Given the description of an element on the screen output the (x, y) to click on. 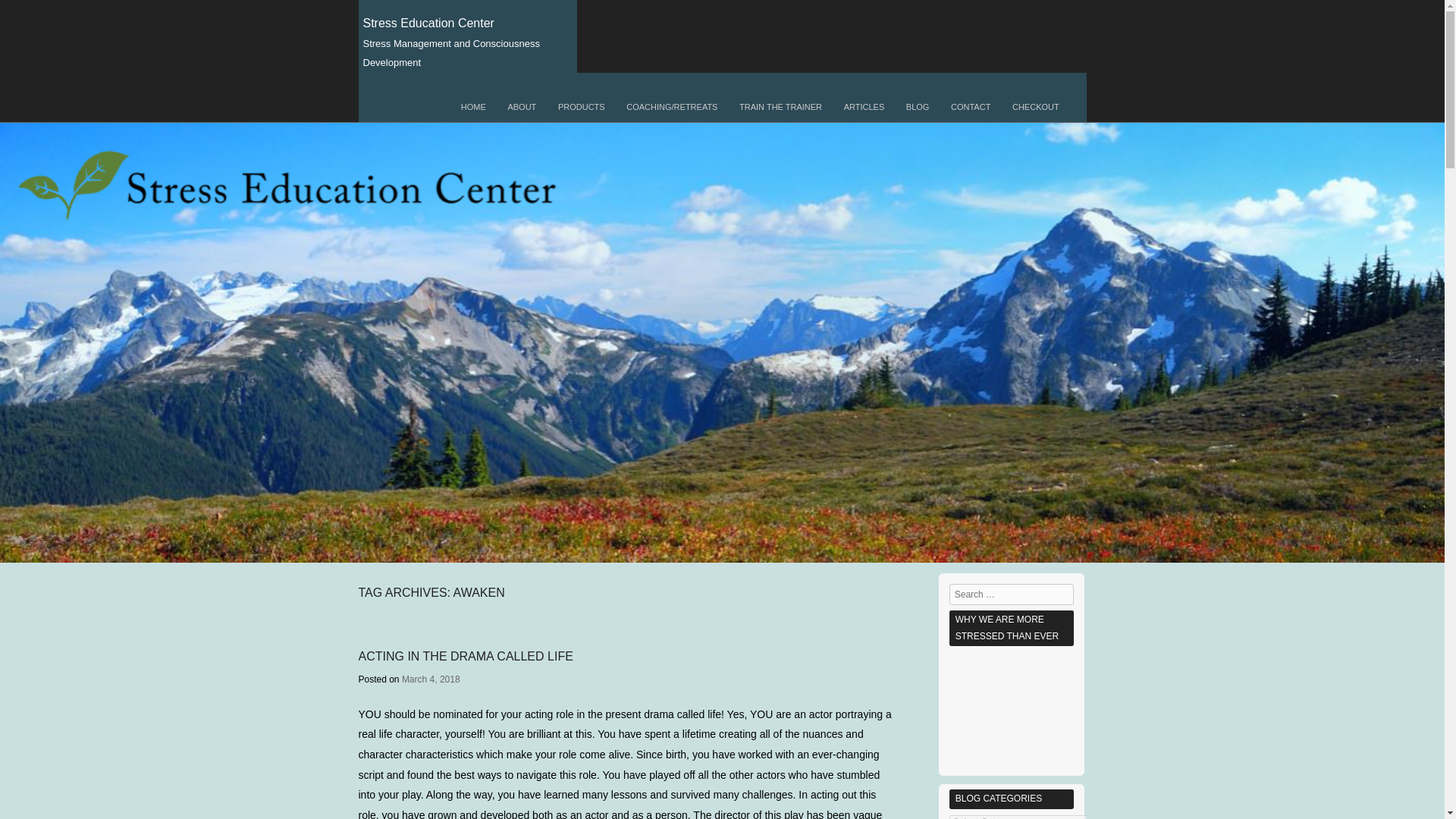
10:22 PM (430, 679)
Skip to content (402, 101)
CONTACT (970, 107)
ABOUT (521, 107)
ARTICLES (864, 107)
SKIP TO CONTENT (402, 101)
CHECKOUT (1035, 107)
PRODUCTS (581, 107)
March 4, 2018 (430, 679)
Stress Education Center (427, 22)
TRAIN THE TRAINER (780, 107)
BLOG (917, 107)
Stress Education Center (427, 22)
Permalink to Acting in the Drama Called Life (465, 656)
ACTING IN THE DRAMA CALLED LIFE (465, 656)
